Given the description of an element on the screen output the (x, y) to click on. 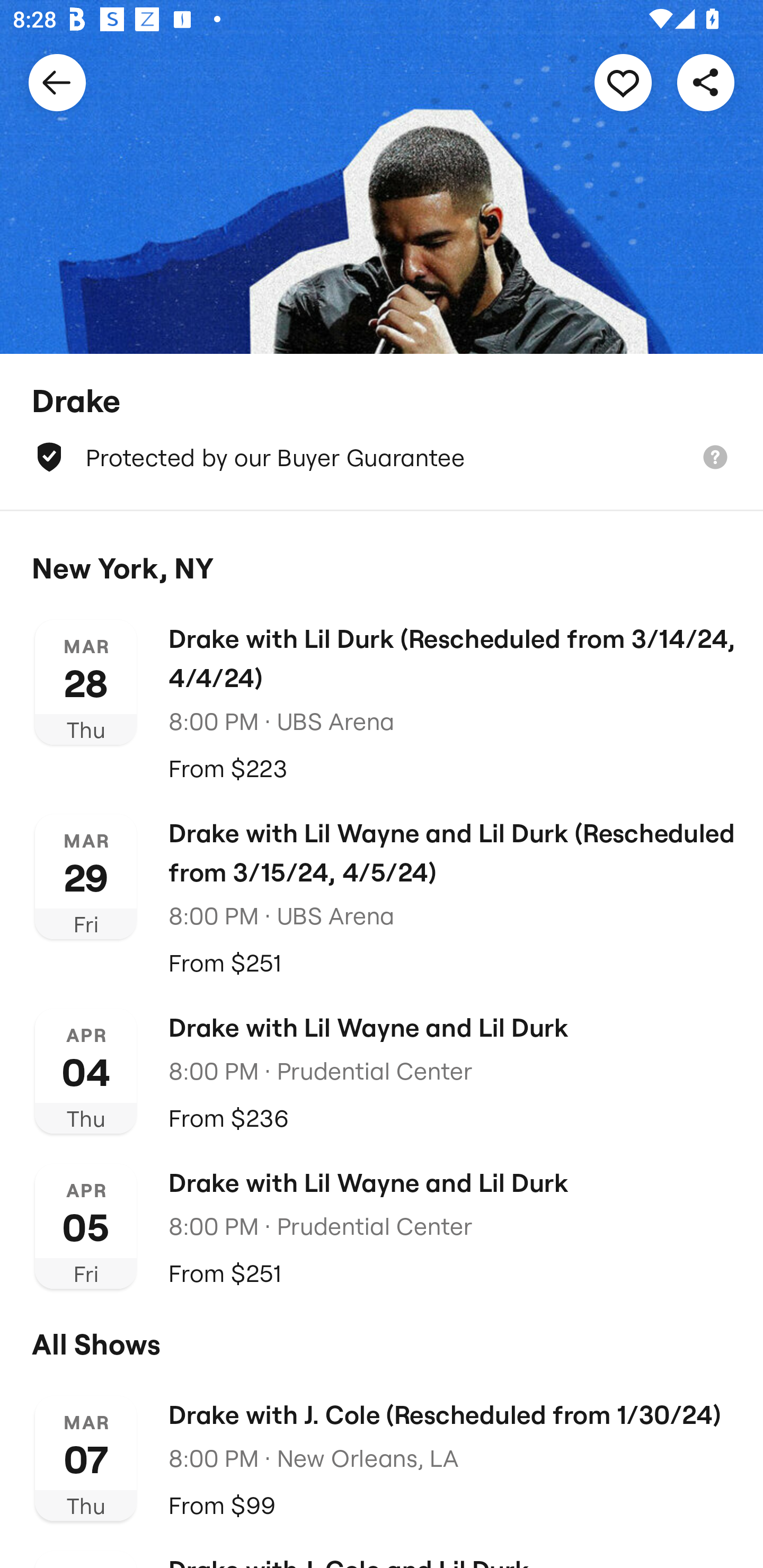
Back (57, 81)
Track this performer (623, 81)
Share this performer (705, 81)
Protected by our Buyer Guarantee Learn more (381, 456)
